Given the description of an element on the screen output the (x, y) to click on. 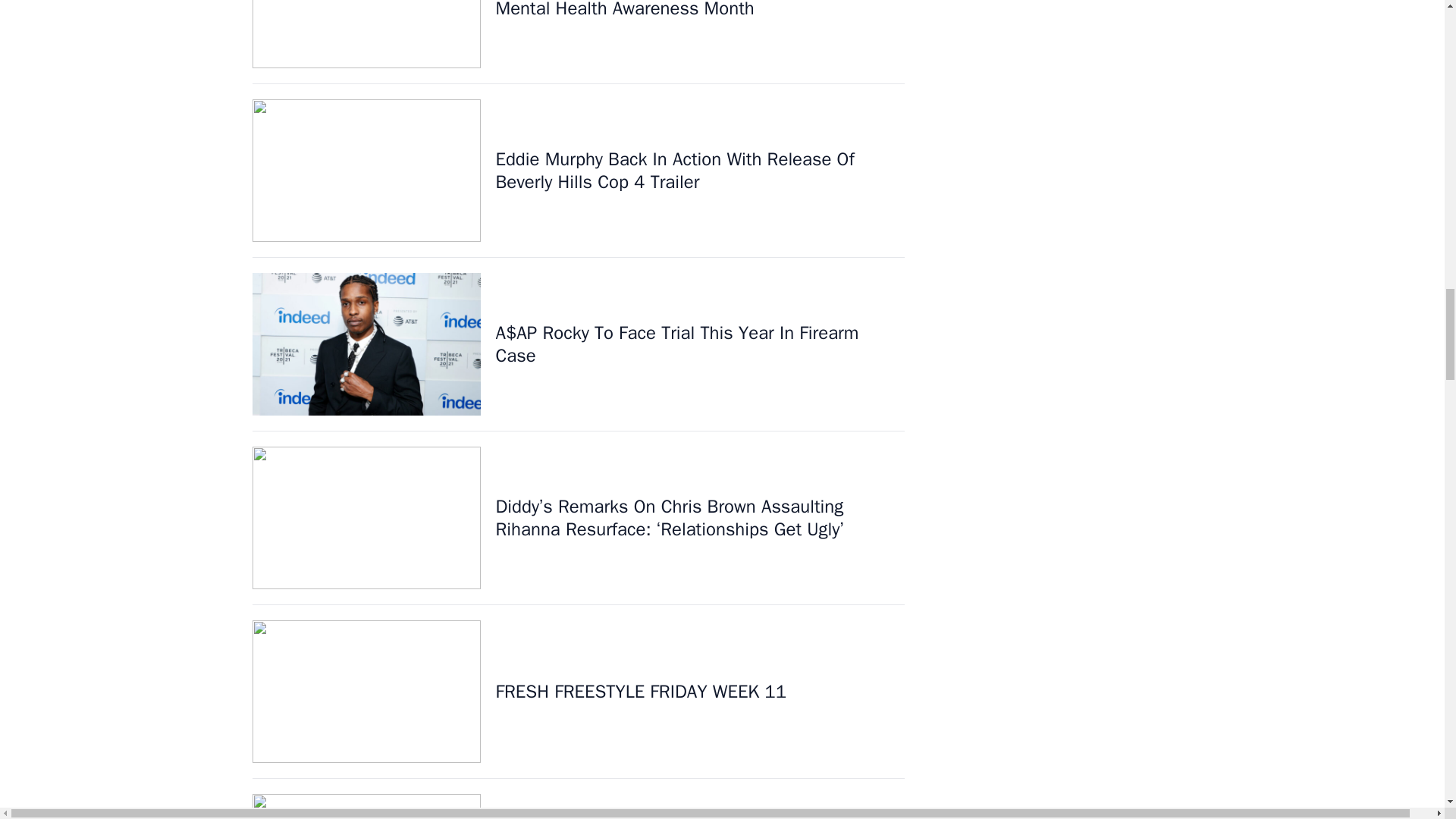
3rd party ad content (1077, 57)
